Given the description of an element on the screen output the (x, y) to click on. 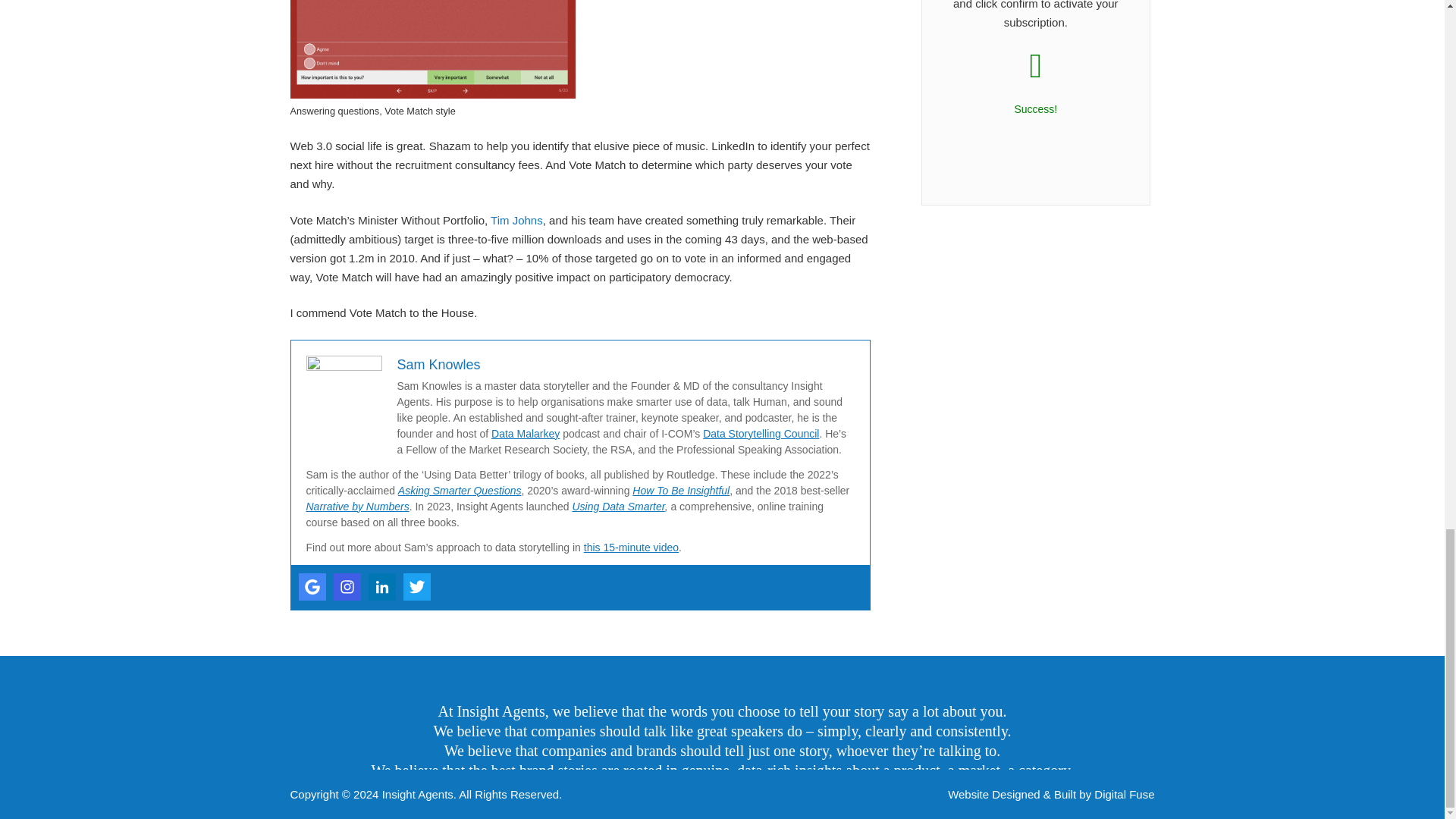
Data Storytelling Council (760, 433)
Asking Smarter Questions (459, 490)
Instagram (347, 586)
Linkedin (382, 586)
Data Malarkey (525, 433)
Tim Johns (516, 219)
Twitter (416, 586)
Sam Knowles (438, 364)
Google (312, 586)
How To Be Insightful (680, 490)
